Given the description of an element on the screen output the (x, y) to click on. 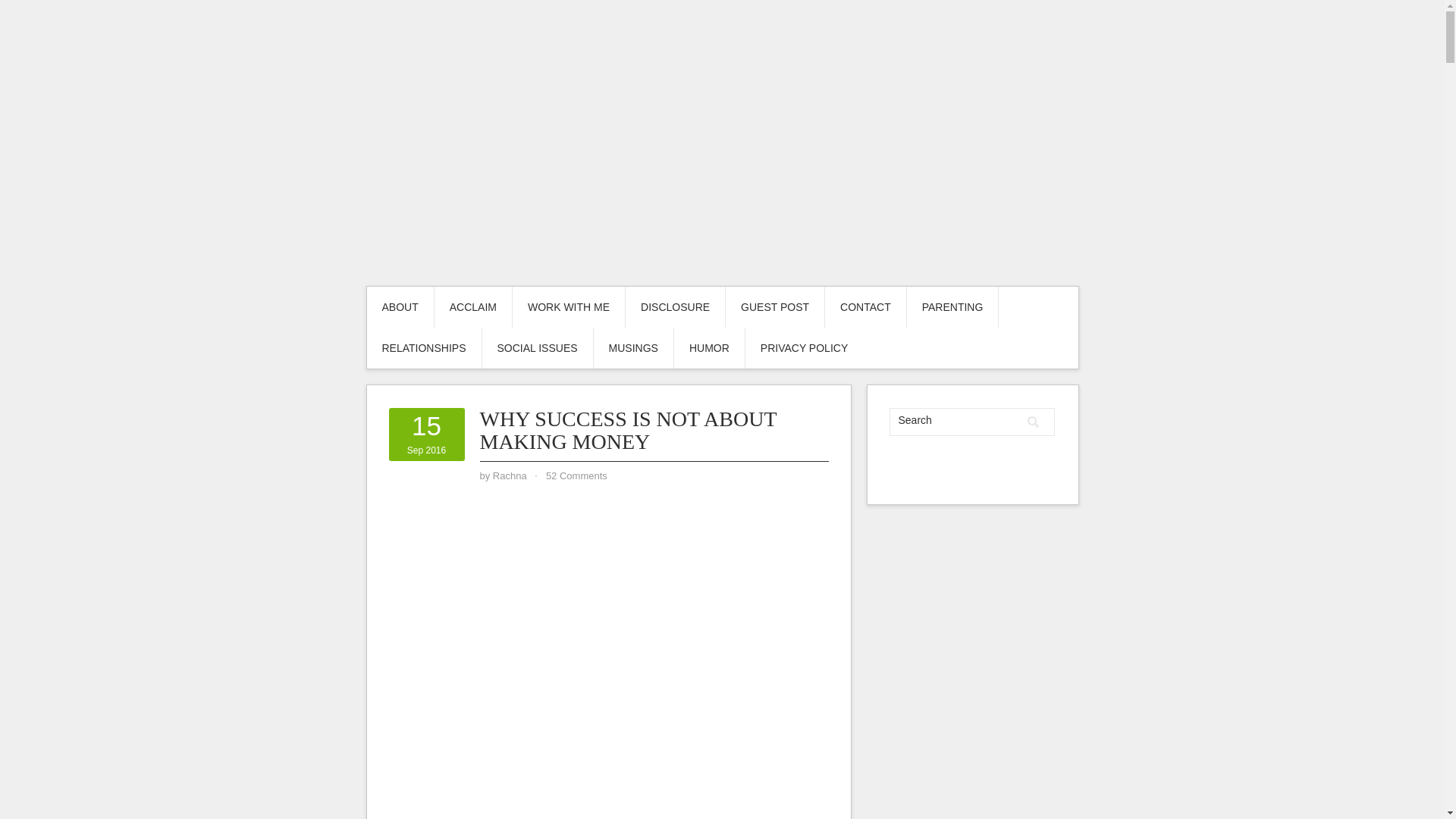
MUSINGS (633, 347)
September 15, 2016 9:21 am (426, 434)
ACCLAIM (472, 306)
Rachna (510, 475)
52 Comments (576, 475)
GUEST POST (774, 306)
SOCIAL ISSUES (536, 347)
PRIVACY POLICY (804, 347)
DISCLOSURE (675, 306)
RELATIONSHIPS (423, 347)
